Given the description of an element on the screen output the (x, y) to click on. 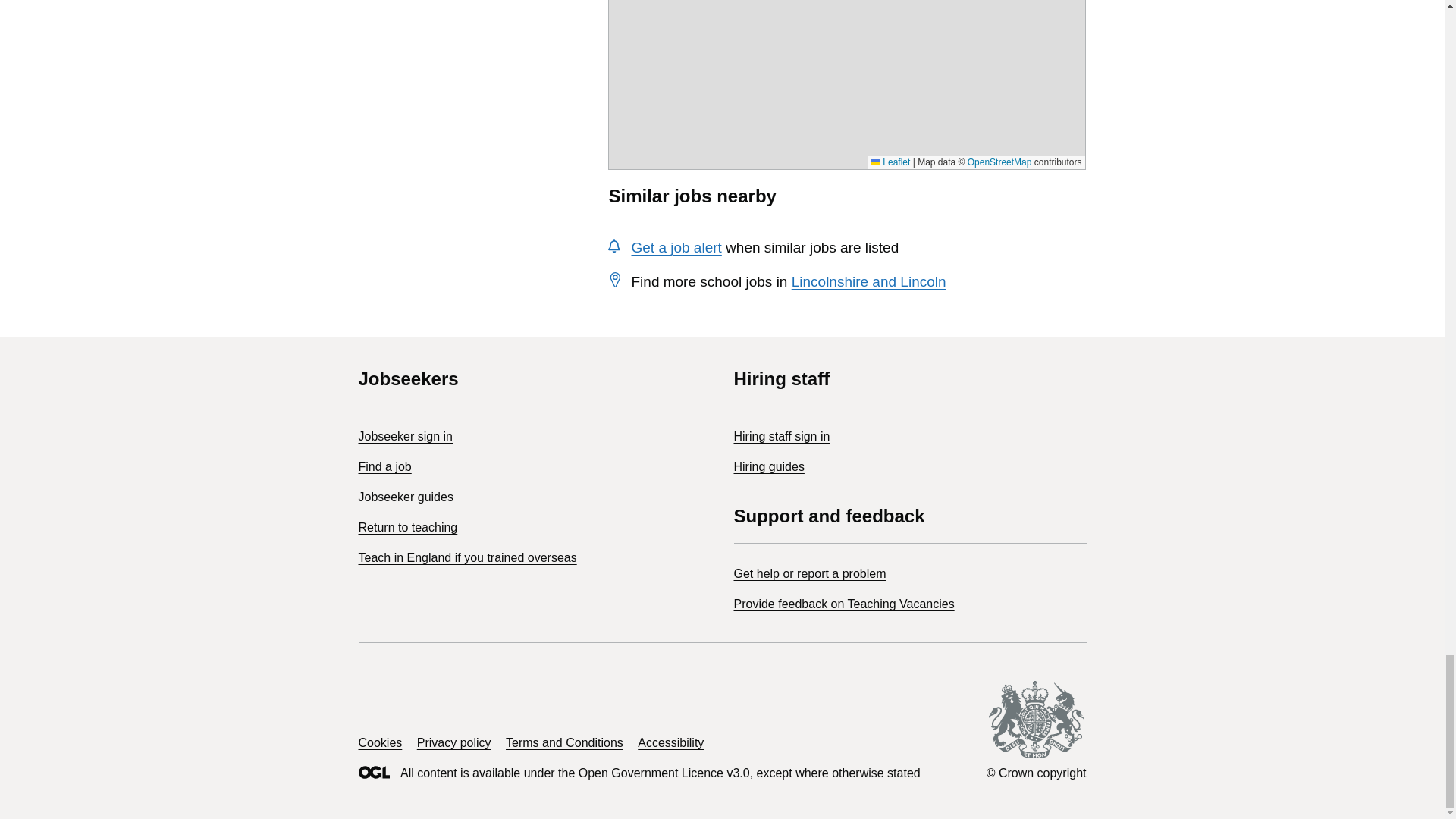
Jobseeker sign in (405, 436)
Vacancy location (847, 16)
Find a job (384, 466)
Get help or report a problem (809, 573)
Privacy policy (454, 742)
Teach in England if you trained overseas (467, 557)
Provide feedback on Teaching Vacancies (844, 603)
Jobseeker guides (405, 496)
Return to teaching (407, 526)
Lincolnshire and Lincoln (869, 281)
A JavaScript library for interactive maps (890, 162)
Leaflet (890, 162)
Hiring staff sign in (781, 436)
Cookies (379, 742)
Hiring guides (769, 466)
